Given the description of an element on the screen output the (x, y) to click on. 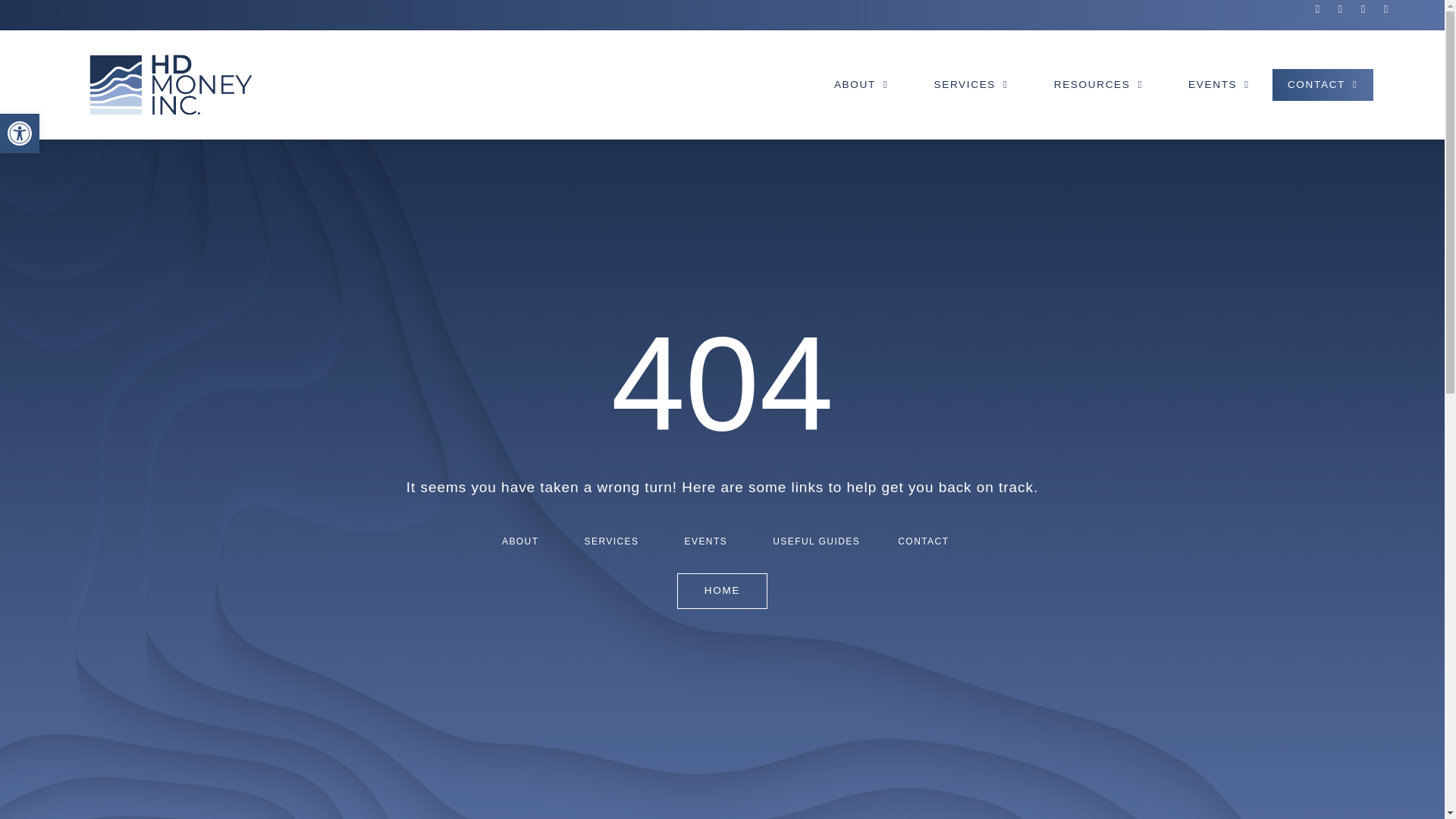
Accessibility Tools (19, 133)
ABOUT (860, 84)
RESOURCES (1098, 84)
EVENTS (1219, 84)
Accessibility Tools (19, 133)
CONTACT (19, 133)
SERVICES (1322, 84)
